Given the description of an element on the screen output the (x, y) to click on. 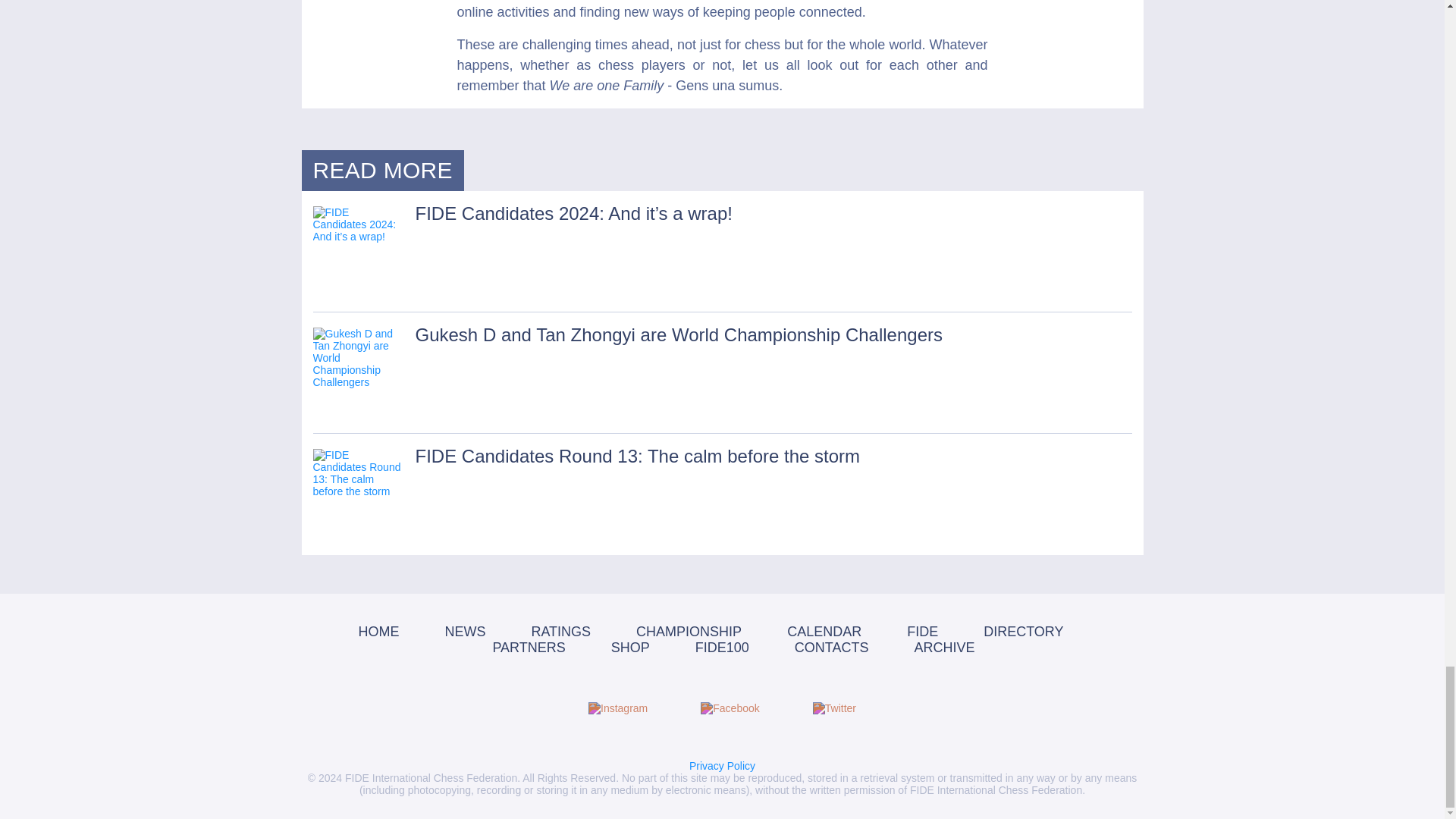
Twitter (834, 707)
Instagram (617, 707)
FIDE Candidates Round 13: The calm before the storm (358, 493)
Gukesh D and Tan Zhongyi are World Championship Challengers (358, 372)
Facebook (729, 707)
